Given the description of an element on the screen output the (x, y) to click on. 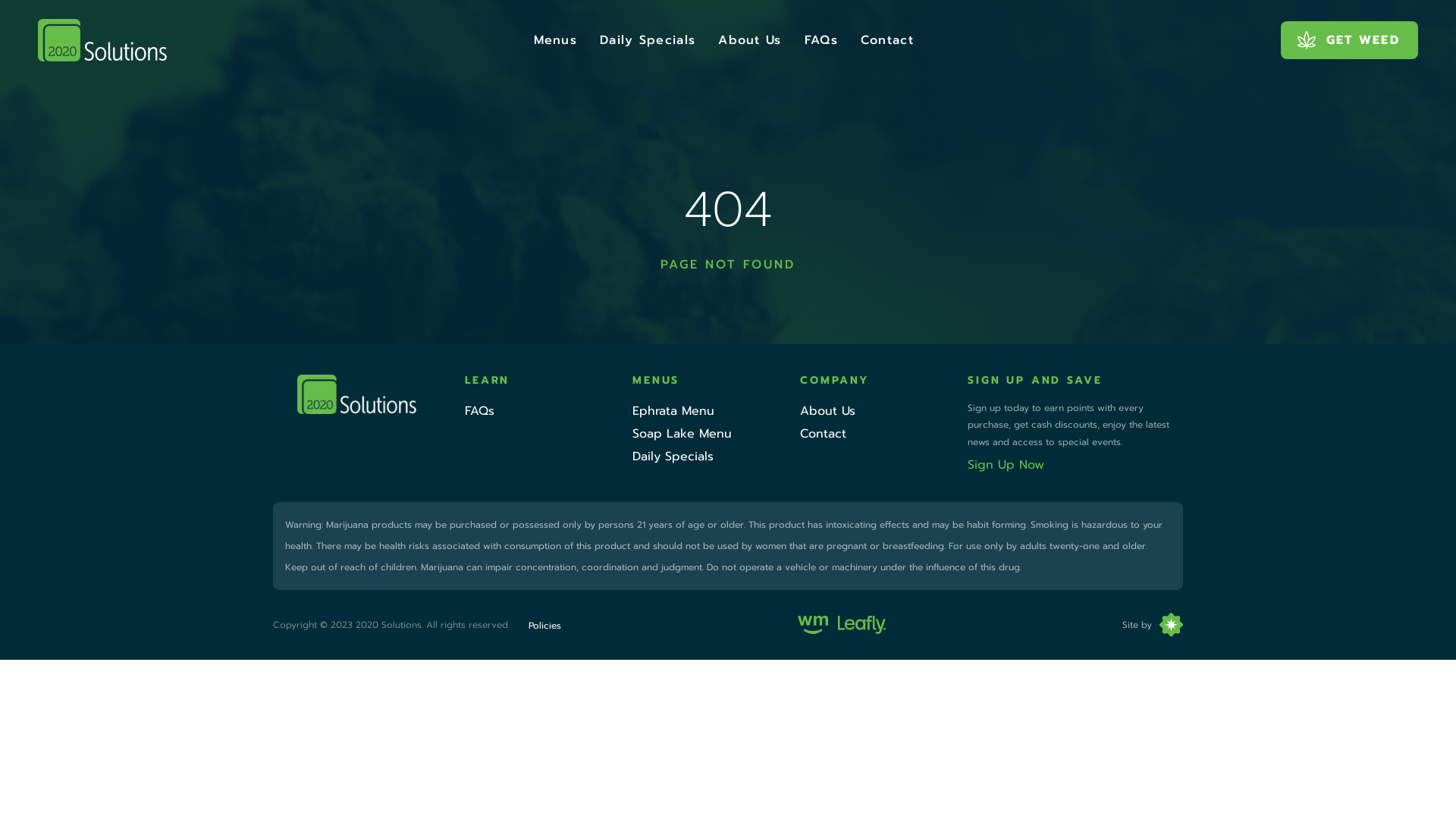
Skip to content Element type: text (0, 0)
Ephrata Menu Element type: text (673, 410)
GET WEED Element type: text (1349, 40)
Soap Lake Menu Element type: text (681, 433)
Weedmaps Element type: text (812, 624)
CannaPlanners Element type: text (1167, 624)
Daily Specials Element type: text (672, 456)
About Us Element type: text (749, 40)
About Us Element type: text (827, 410)
Daily Specials Element type: text (647, 40)
Sign Up Now Element type: text (1005, 464)
FAQs Element type: text (821, 40)
Policies Element type: text (544, 625)
Leafly Element type: text (861, 624)
FAQs Element type: text (479, 410)
Contact Element type: text (887, 40)
home Element type: text (101, 39)
Menus Element type: text (555, 40)
Contact Element type: text (823, 433)
